Given the description of an element on the screen output the (x, y) to click on. 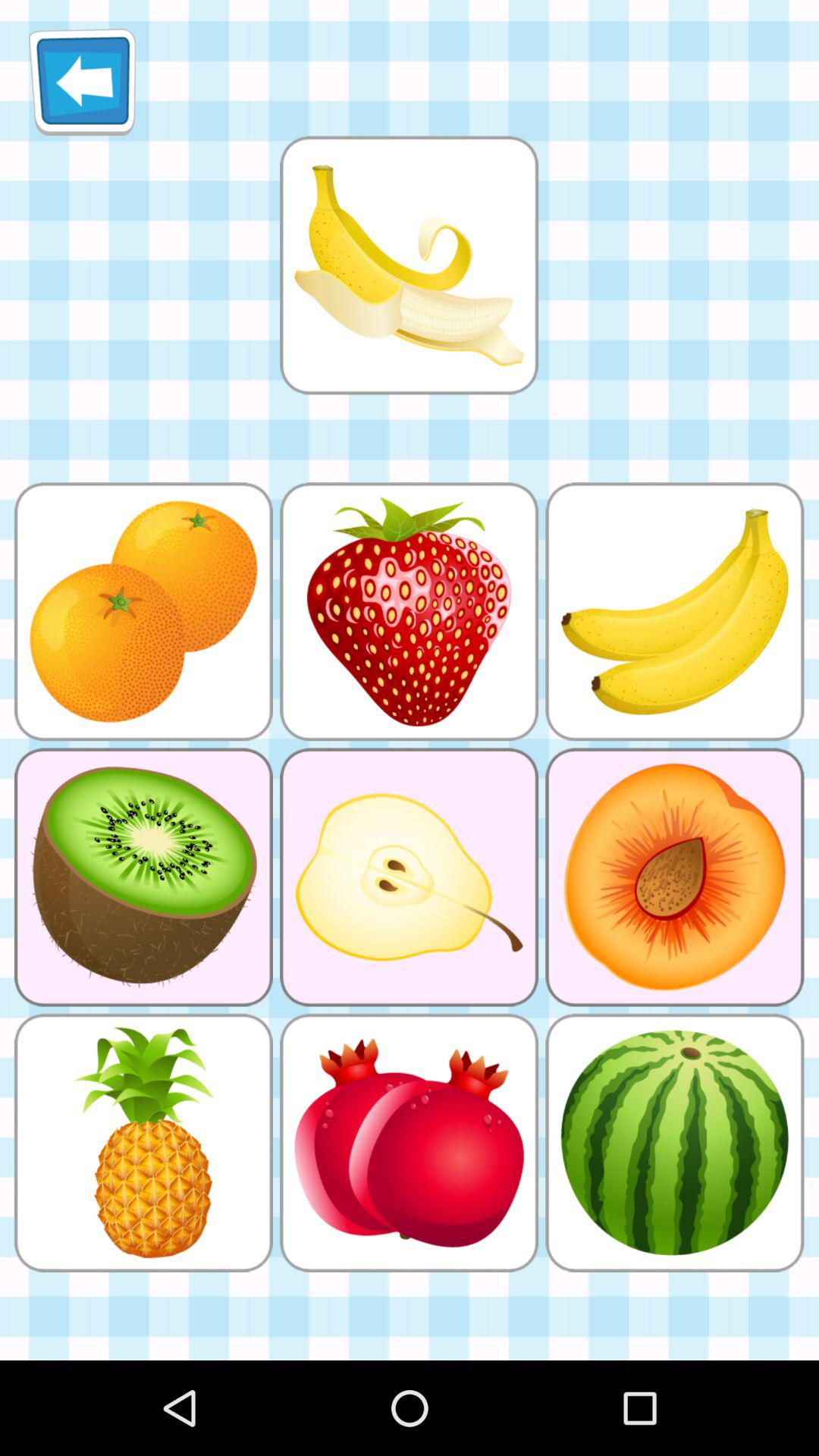
banana (409, 265)
